Given the description of an element on the screen output the (x, y) to click on. 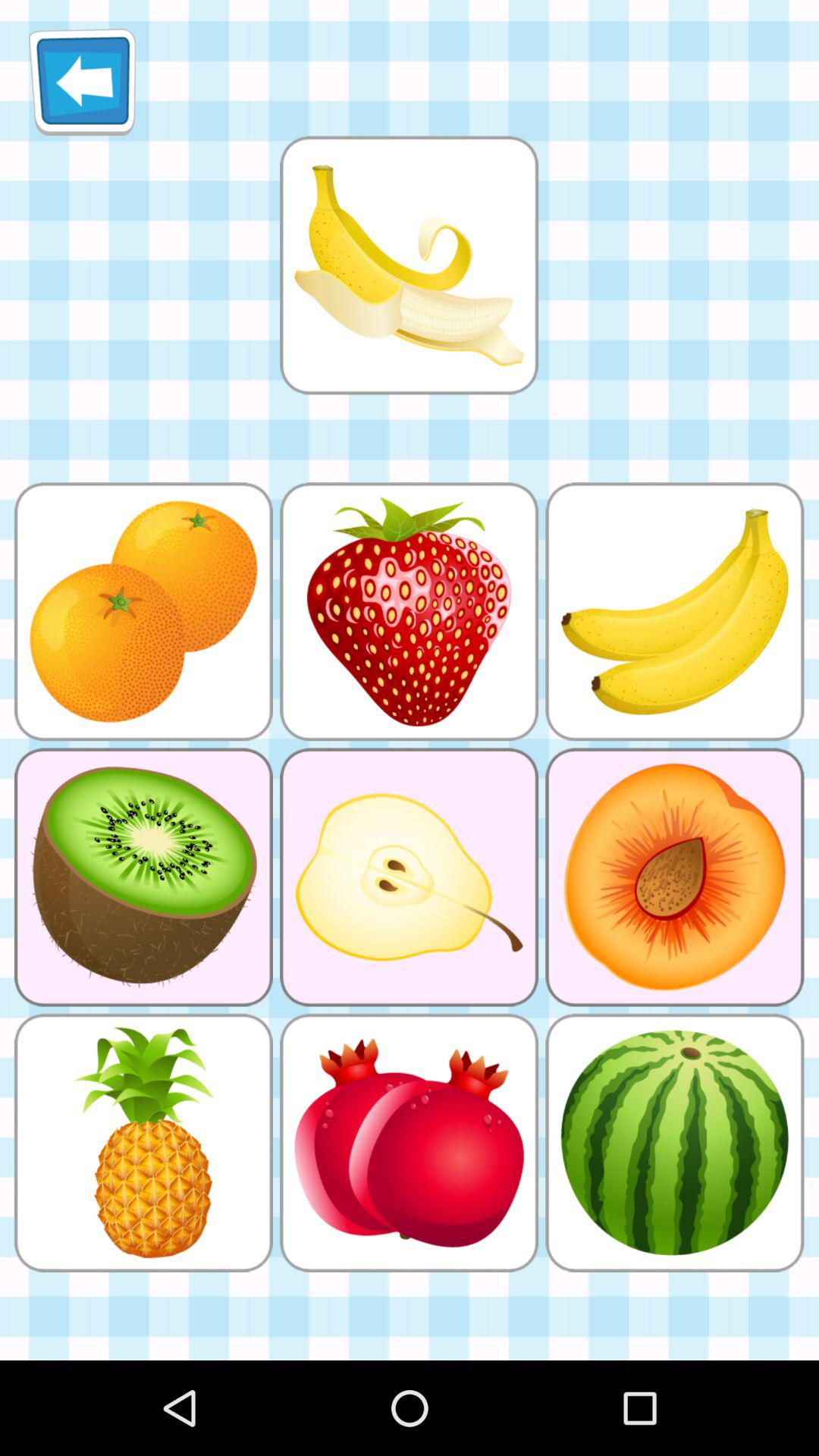
banana (409, 265)
